Given the description of an element on the screen output the (x, y) to click on. 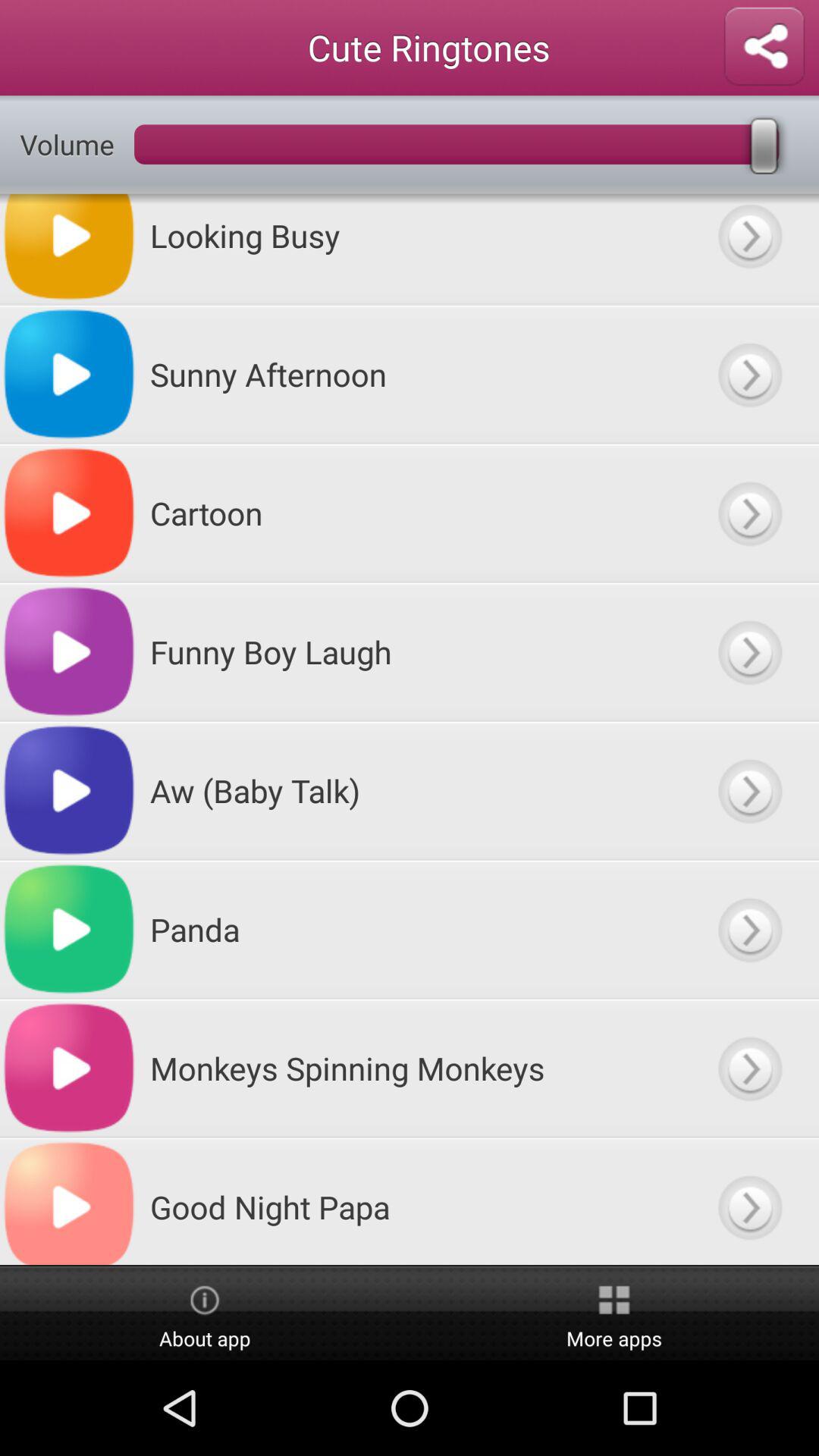
select ringtone (749, 1201)
